Given the description of an element on the screen output the (x, y) to click on. 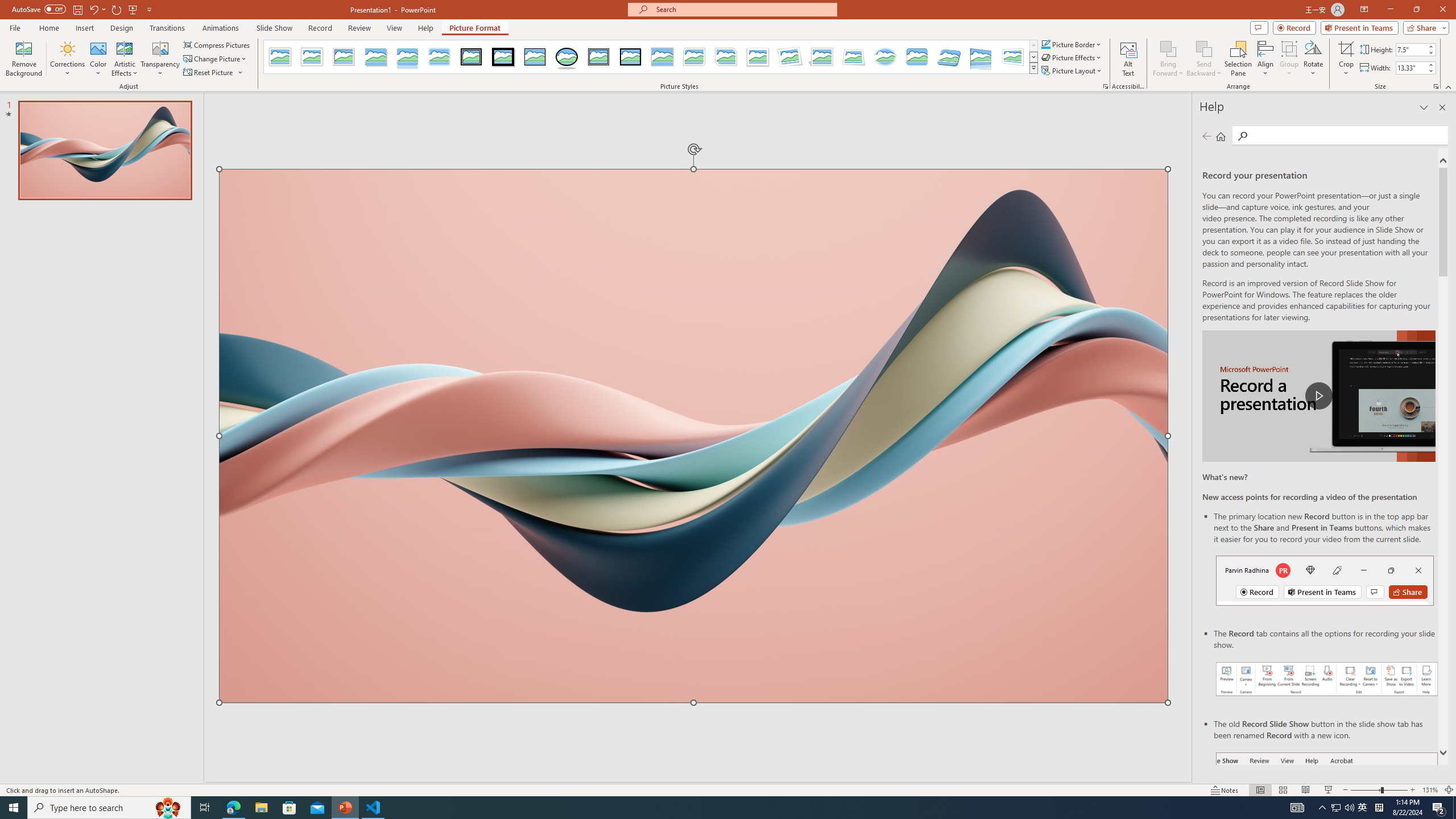
Snip Diagonal Corner, White (726, 56)
Ribbon Display Options (1364, 9)
View (395, 28)
Microsoft search (742, 9)
Remove Background (23, 58)
Class: NetUIImage (1034, 68)
Quick Styles (1033, 67)
Close (1442, 9)
AutomationID: PictureStylesGallery (650, 56)
play Record a Presentation (1318, 395)
Share (1423, 27)
Design (122, 28)
Record (320, 28)
Rounded Diagonal Corner, White (694, 56)
